Given the description of an element on the screen output the (x, y) to click on. 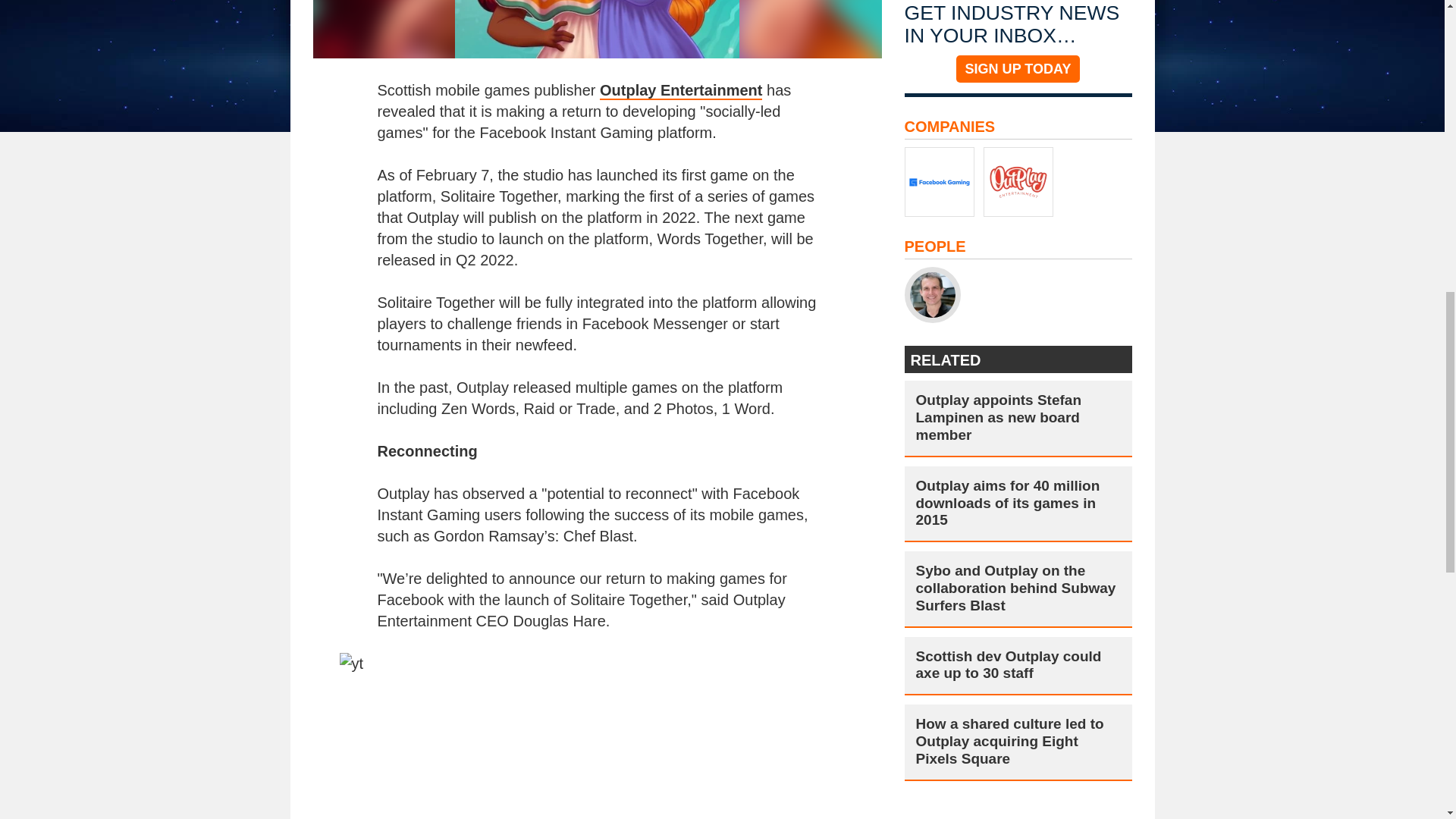
Outplay aims for 40 million downloads of its games in 2015 (1017, 503)
Outplay appoints Stefan Lampinen as new board member (1017, 417)
Outplay Entertainment (680, 90)
